Given the description of an element on the screen output the (x, y) to click on. 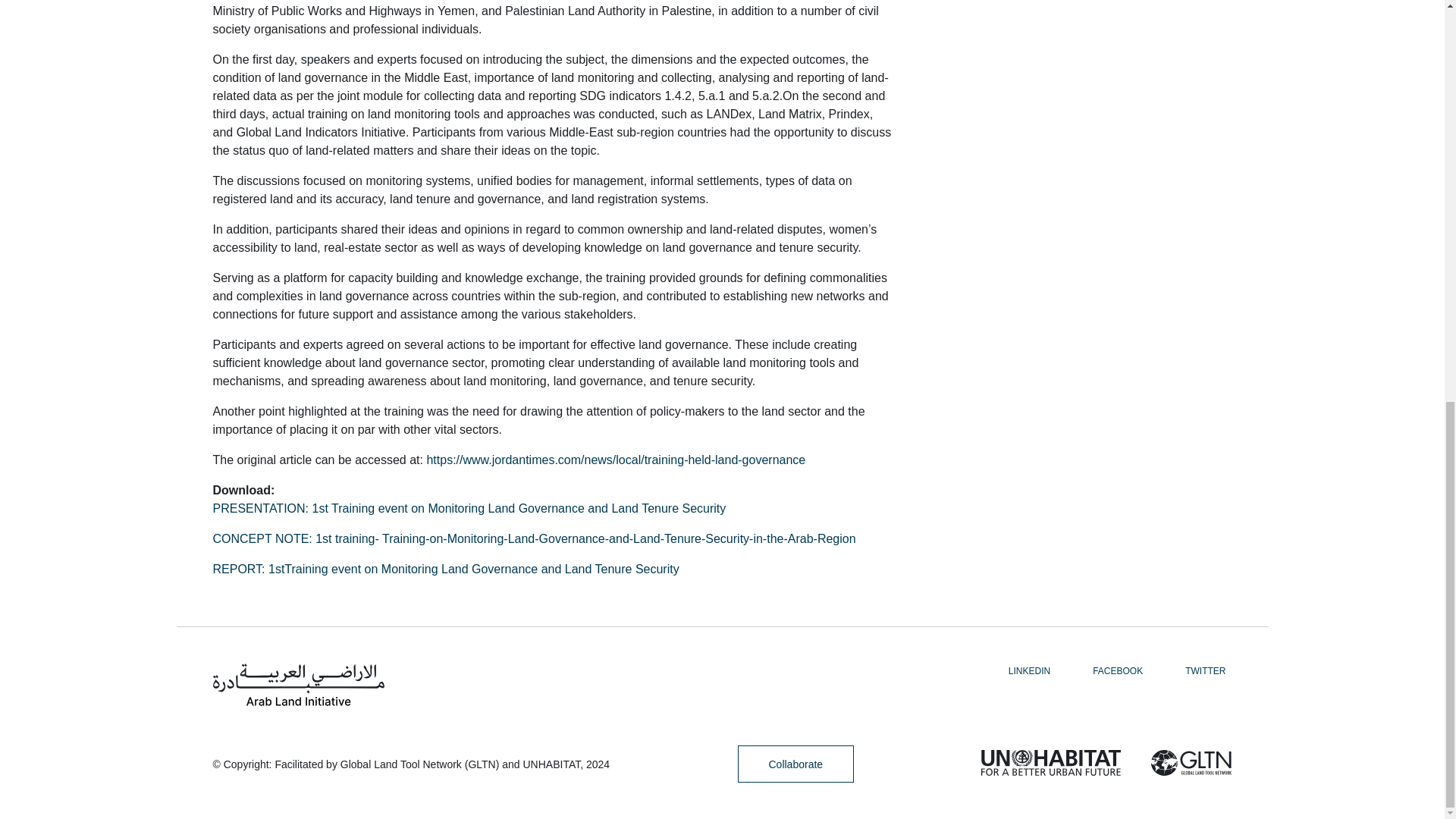
Home (298, 684)
